Given the description of an element on the screen output the (x, y) to click on. 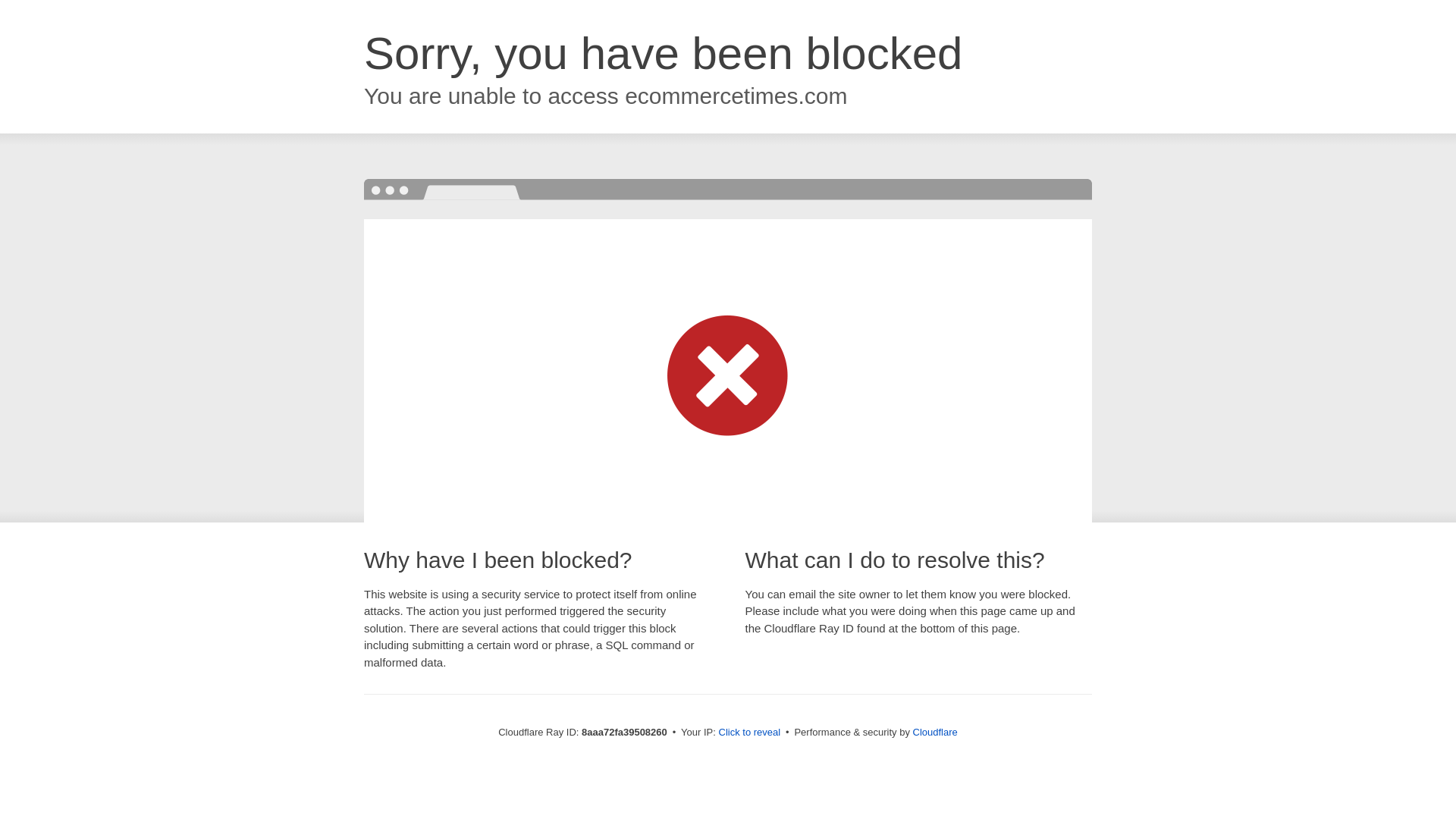
Cloudflare (935, 731)
Click to reveal (749, 732)
